Given the description of an element on the screen output the (x, y) to click on. 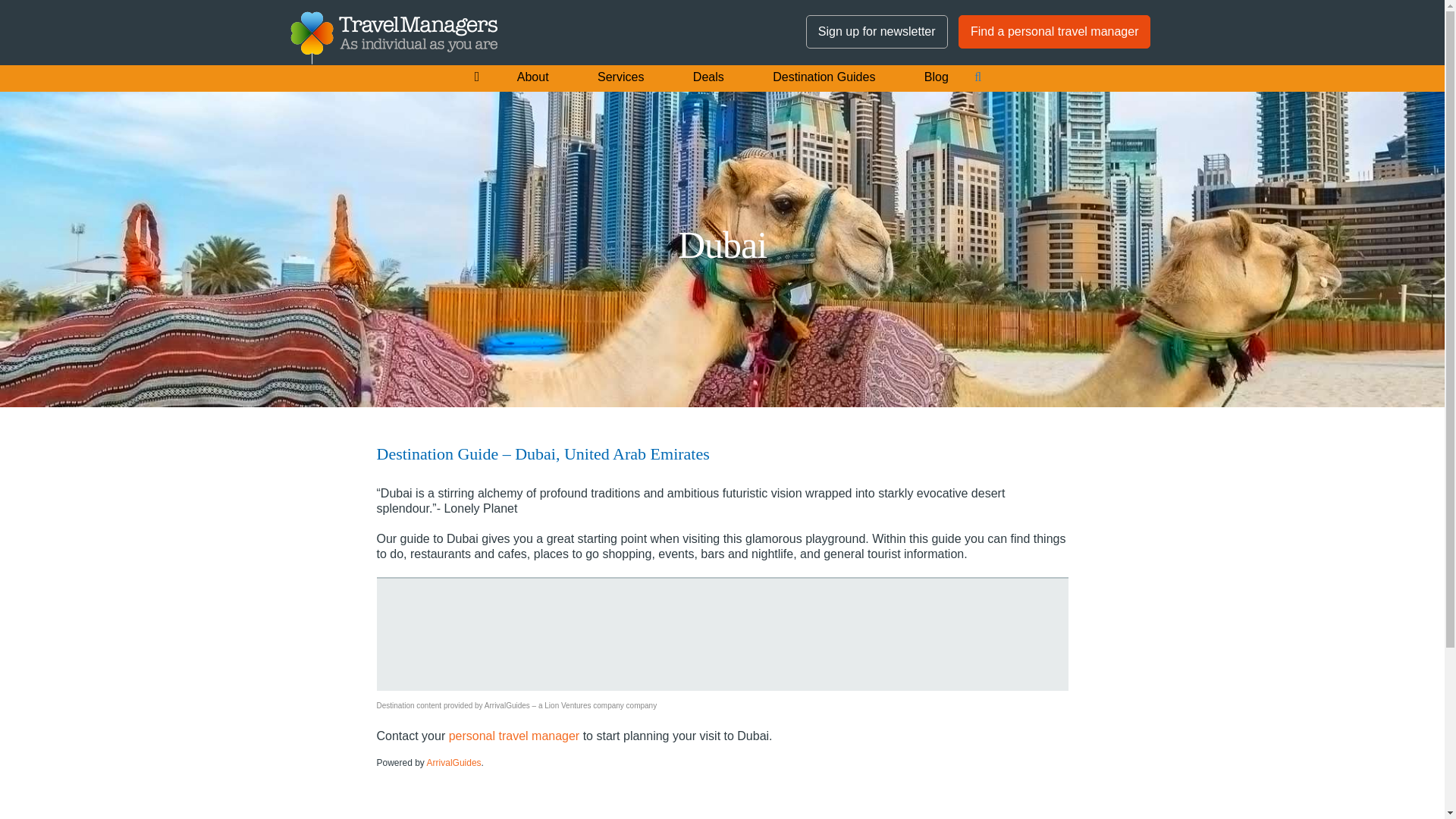
Sign up for newsletter (877, 31)
Sign up for newsletter (876, 31)
Find a personal travel manager (1054, 31)
